Given the description of an element on the screen output the (x, y) to click on. 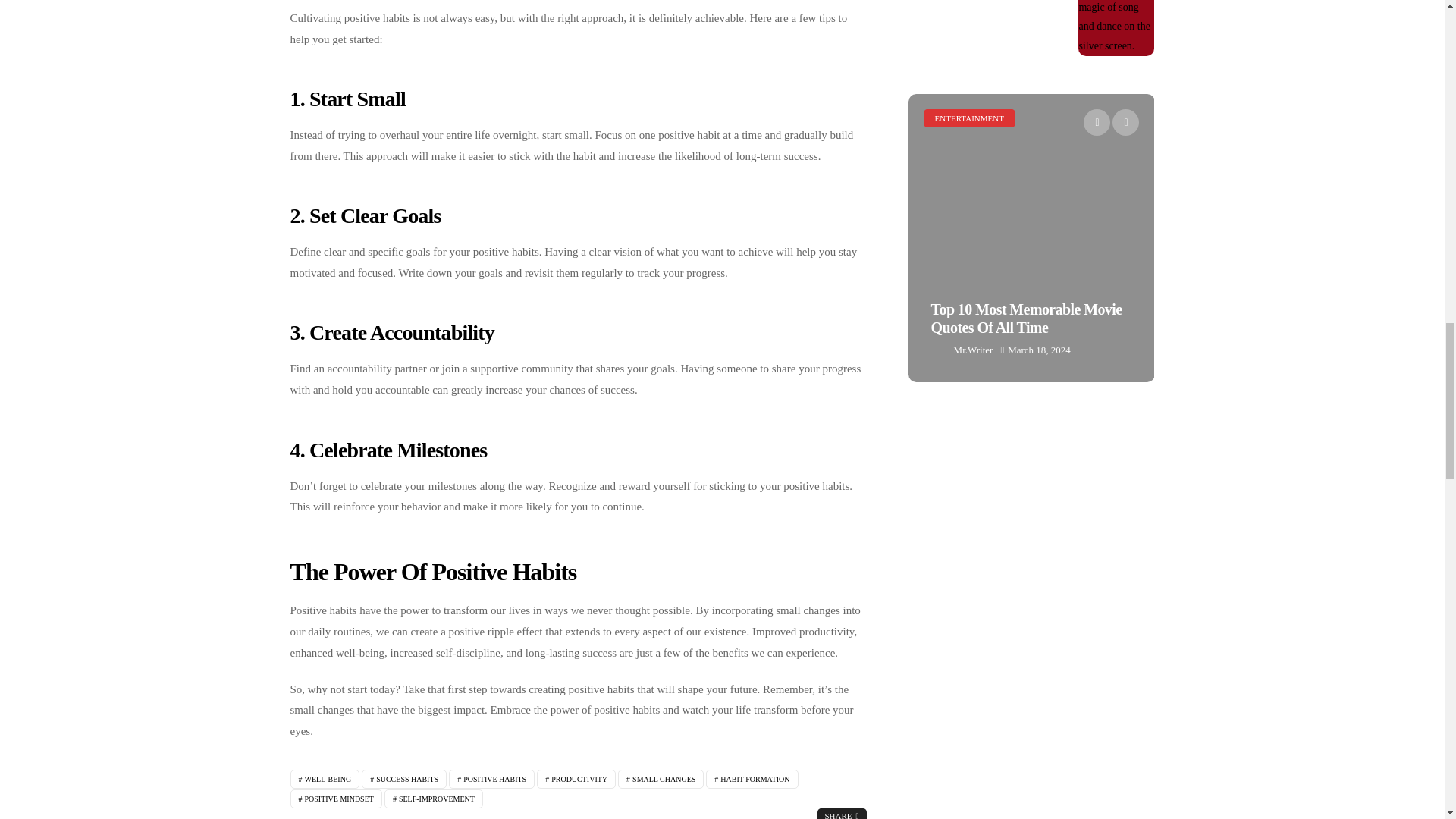
Posts by Mr.Writer (972, 349)
POSITIVE HABITS (491, 778)
PRODUCTIVITY (576, 778)
Top 10 Most Memorable Movie Quotes of All Time (1031, 238)
WELL-BEING (324, 778)
The Top 10 Must-See Musical Films (1116, 28)
Top Picks for a Cozy Family Movie Night (785, 238)
SUCCESS HABITS (403, 778)
